Given the description of an element on the screen output the (x, y) to click on. 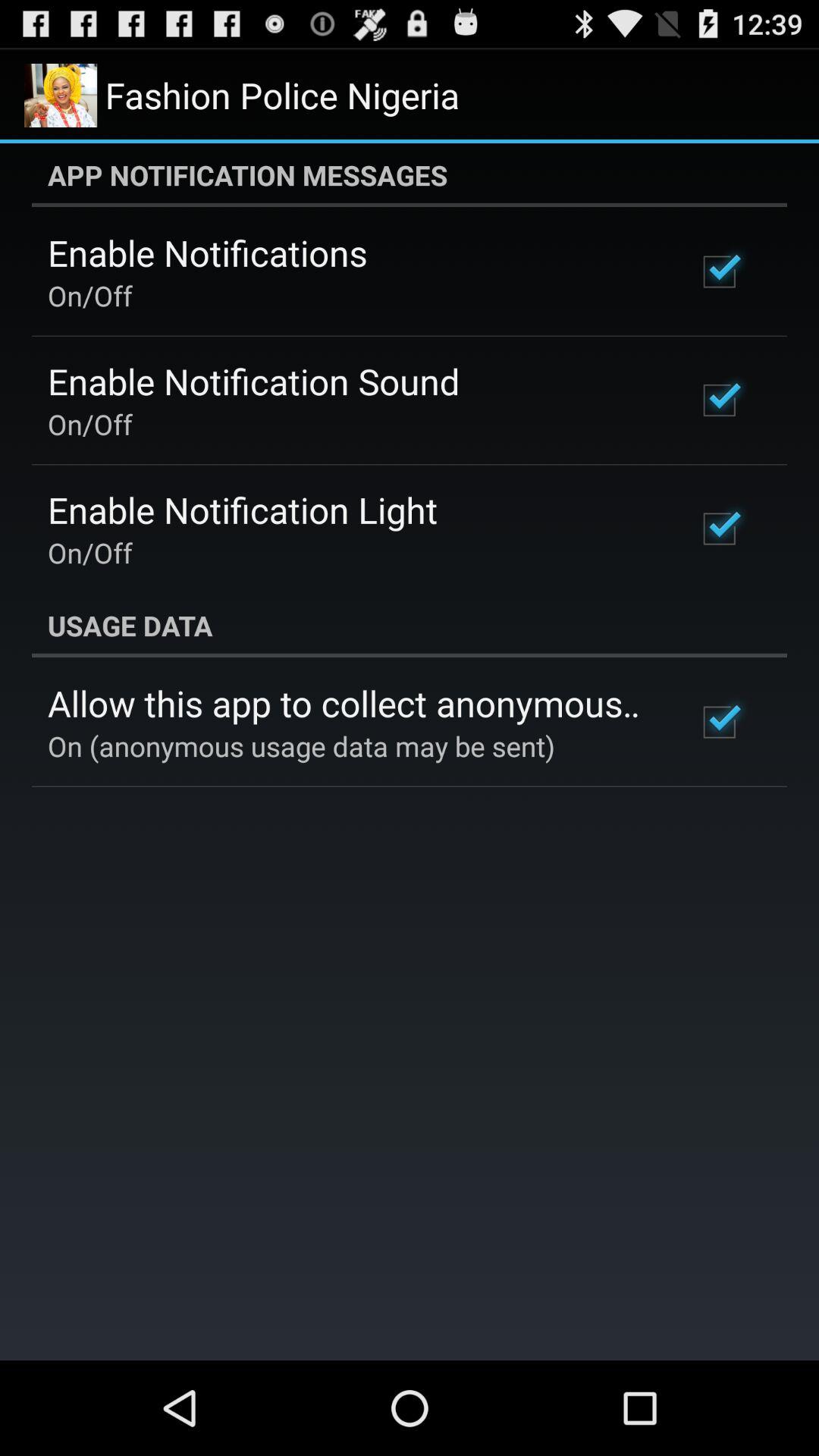
jump until app notification messages (409, 175)
